Given the description of an element on the screen output the (x, y) to click on. 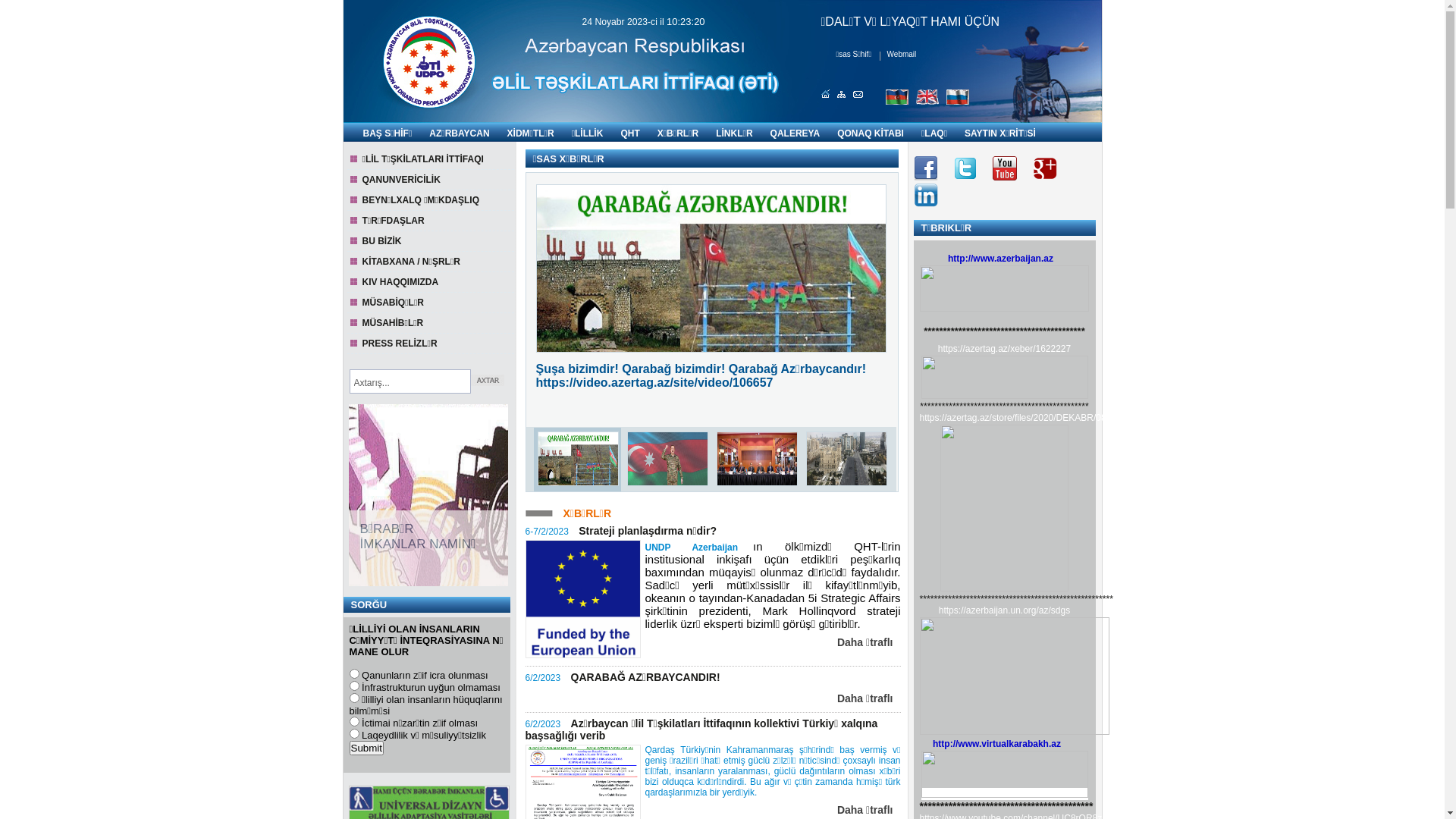
****************************************** Element type: text (1003, 330)
Submit Element type: text (365, 747)
QALEREYA Element type: text (792, 133)
          http://www.azerbaijan.az              Element type: text (1004, 258)
UNDP Azerbaijan Element type: text (694, 546)
https://azerbaijan.un.org/az/sdgs Element type: text (1004, 610)
https://azertag.az/xeber/1622227 Element type: text (1004, 348)
QHT Element type: text (627, 133)
http://www.virtualkarabakh.az       Element type: text (1004, 743)
Webmail Element type: text (901, 54)
KIV HAQQIMIZDA Element type: text (430, 282)
